Given the description of an element on the screen output the (x, y) to click on. 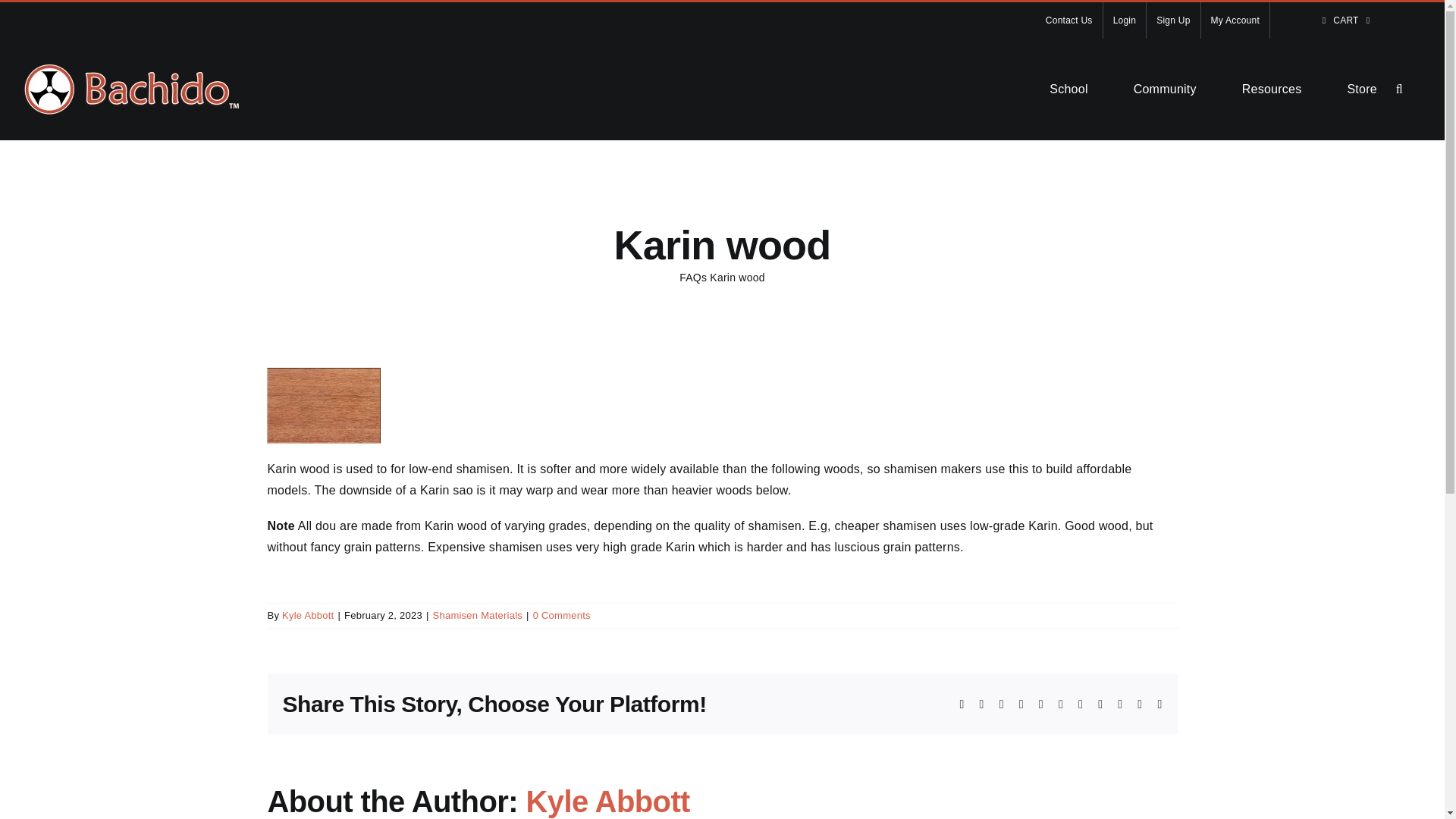
Community (1165, 89)
CART (1345, 20)
Contact Us (1068, 20)
Posts by Kyle Abbott (307, 614)
Sign Up (1173, 20)
Login (1125, 20)
Resources (1271, 89)
Store (1360, 89)
karin-wood (323, 405)
School (1068, 89)
Log In (1307, 181)
My Account (1235, 20)
